Given the description of an element on the screen output the (x, y) to click on. 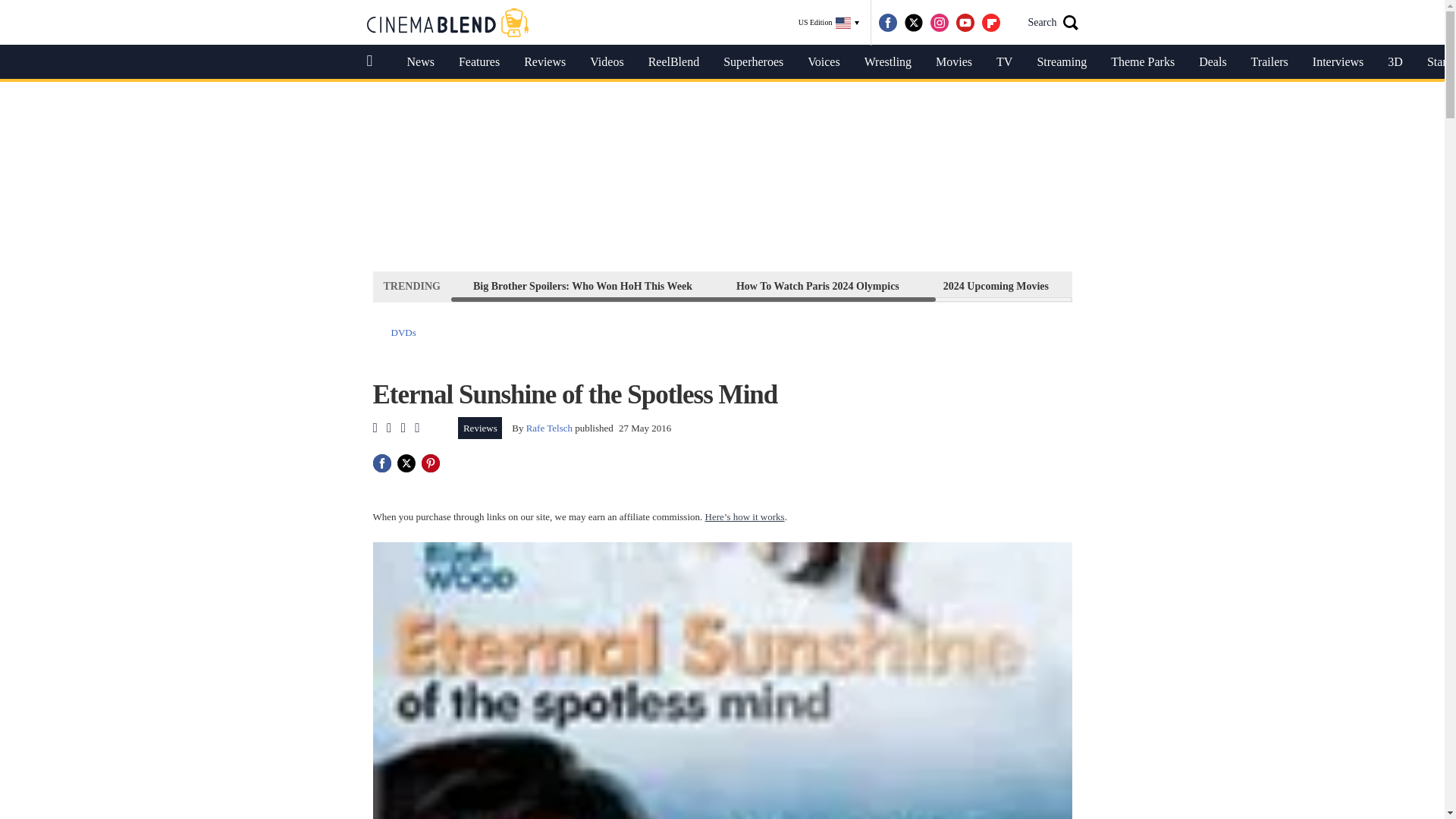
Big Brother Spoilers: Who Won HoH This Week (582, 286)
Deals (1212, 61)
ReelBlend (673, 61)
Voices (822, 61)
Reviews (545, 61)
Reviews (480, 427)
Interviews (1337, 61)
News (419, 61)
Theme Parks (1142, 61)
Wrestling (887, 61)
100 Best Sitcoms Of All Time (1158, 286)
TV (1004, 61)
Videos (606, 61)
Features (479, 61)
Movies (953, 61)
